Given the description of an element on the screen output the (x, y) to click on. 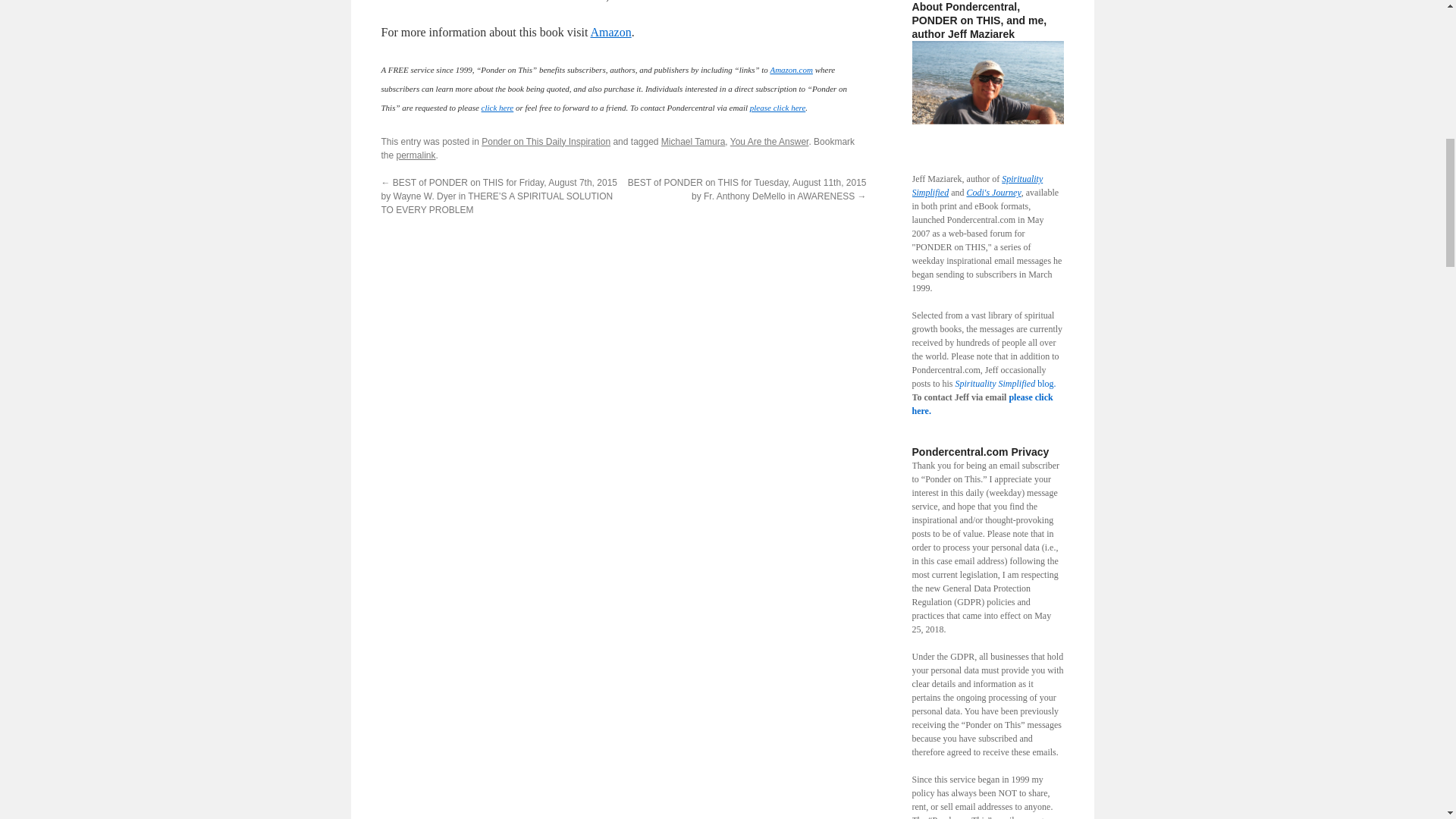
please click here. (981, 404)
Spirituality Simplified blog. (1006, 383)
Amazon.com (791, 69)
Amazon (609, 31)
Spirituality Simplified (976, 185)
Ponder on This Daily Inspiration (545, 141)
click here (497, 107)
Codi's Journey (993, 192)
permalink (415, 154)
